Given the description of an element on the screen output the (x, y) to click on. 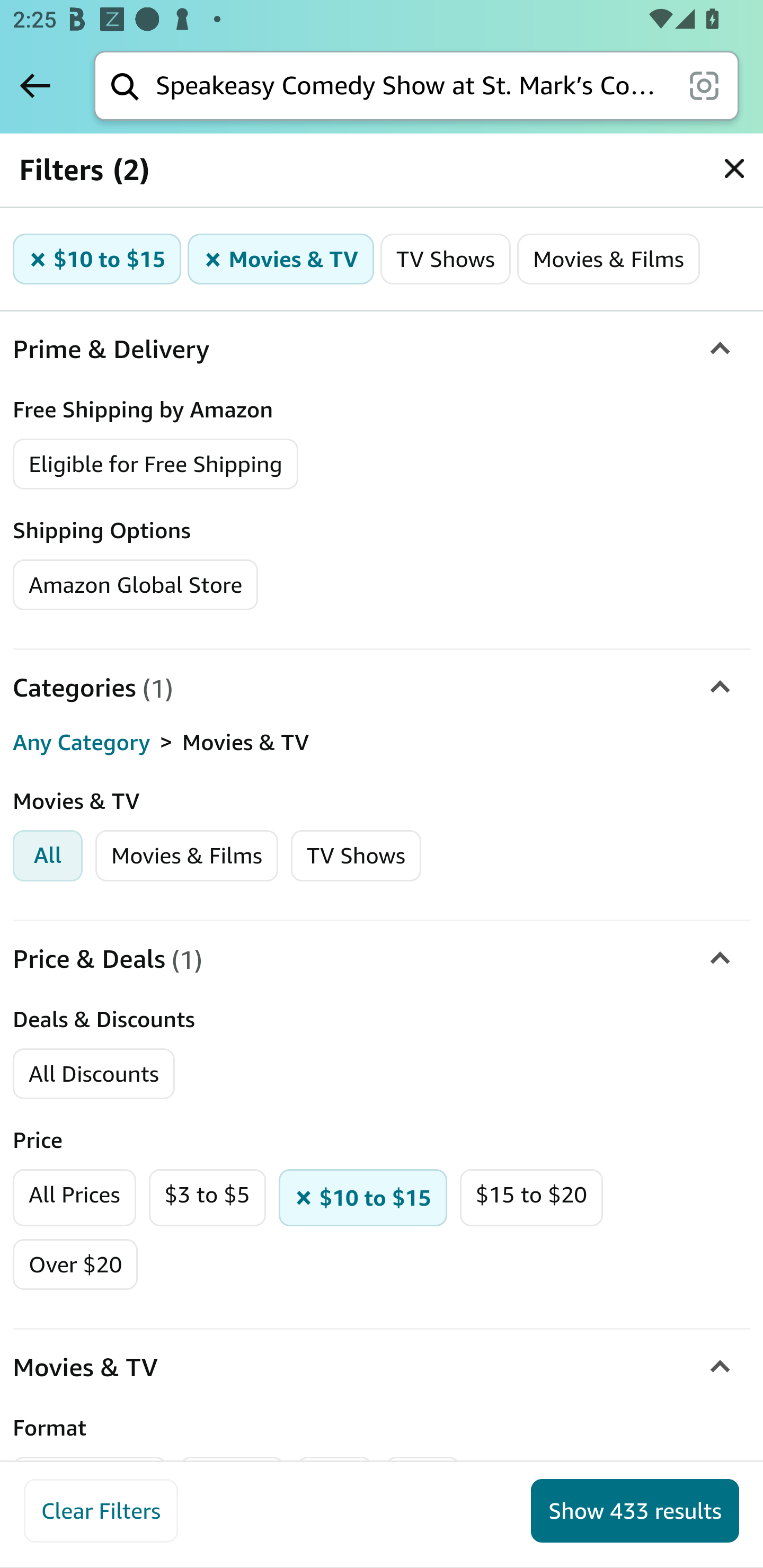
Back (35, 85)
scan it (704, 85)
s?k=Speakeasy+Comedy+Show+at+St (733, 168)
× $10 to $15 × $10 to $15 (97, 258)
× Movies & TV × Movies & TV (281, 258)
TV Shows (445, 258)
Movies & Films (608, 258)
Prime & Delivery (381, 349)
Eligible for Free Shipping (155, 464)
Amazon Global Store (135, 585)
Categories (1) (381, 688)
Any Category (81, 741)
Movies & Films (186, 855)
TV Shows (355, 855)
Price & Deals (1) (381, 958)
All Discounts (93, 1073)
All Prices (74, 1197)
$3 to $5 (207, 1197)
× $10 to $15 × $10 to $15 (363, 1197)
$15 to $20 (531, 1197)
Over $20 (75, 1264)
Movies & TV (381, 1367)
Clear Filters (100, 1510)
Show 433 results (635, 1510)
